Given the description of an element on the screen output the (x, y) to click on. 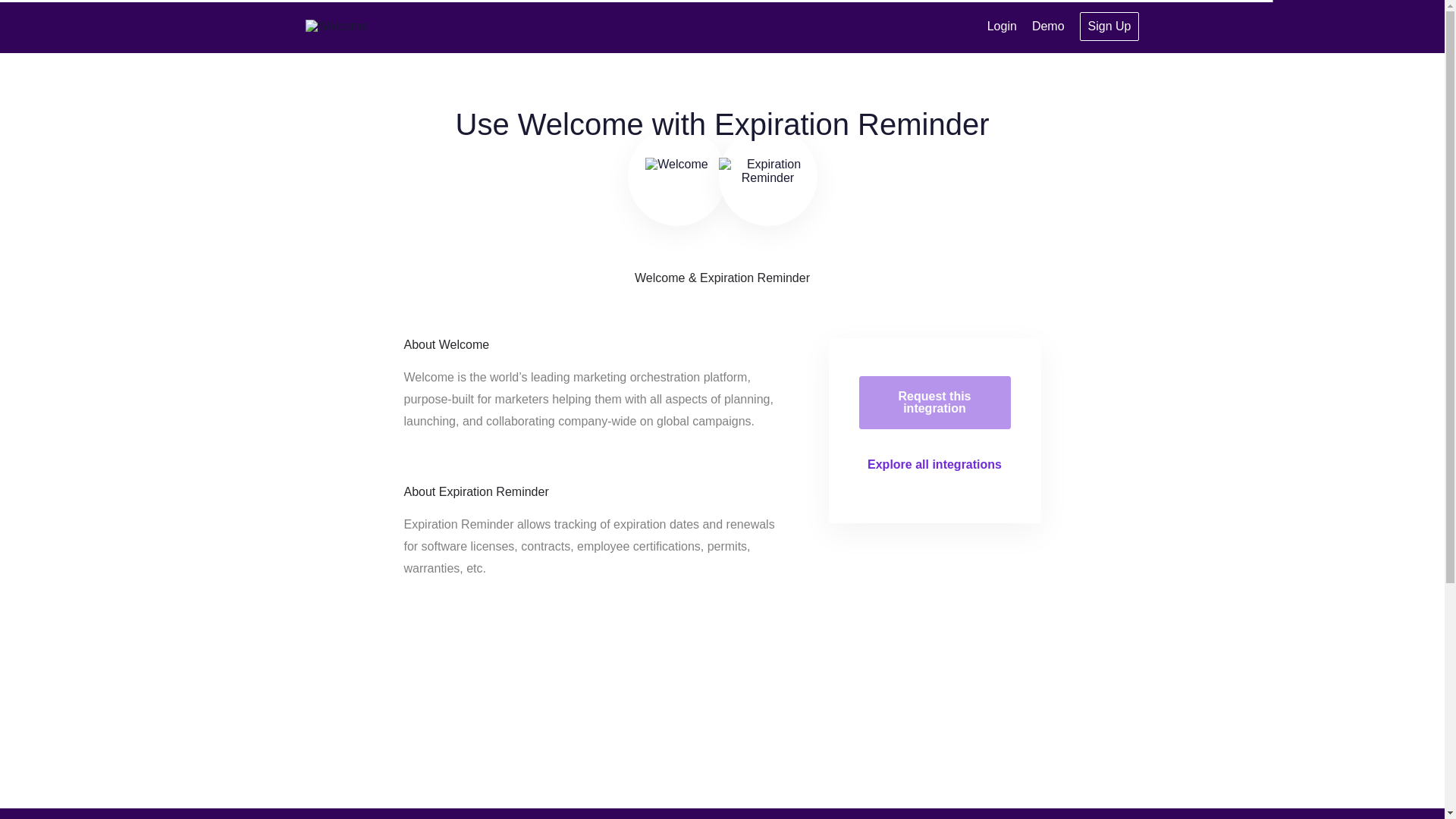
Explore all integrations (934, 464)
Sign Up (1110, 26)
Login (1001, 25)
Expiration Reminder (767, 176)
Demo (1048, 25)
Request this integration (934, 402)
Welcome (335, 26)
Welcome (676, 176)
